Given the description of an element on the screen output the (x, y) to click on. 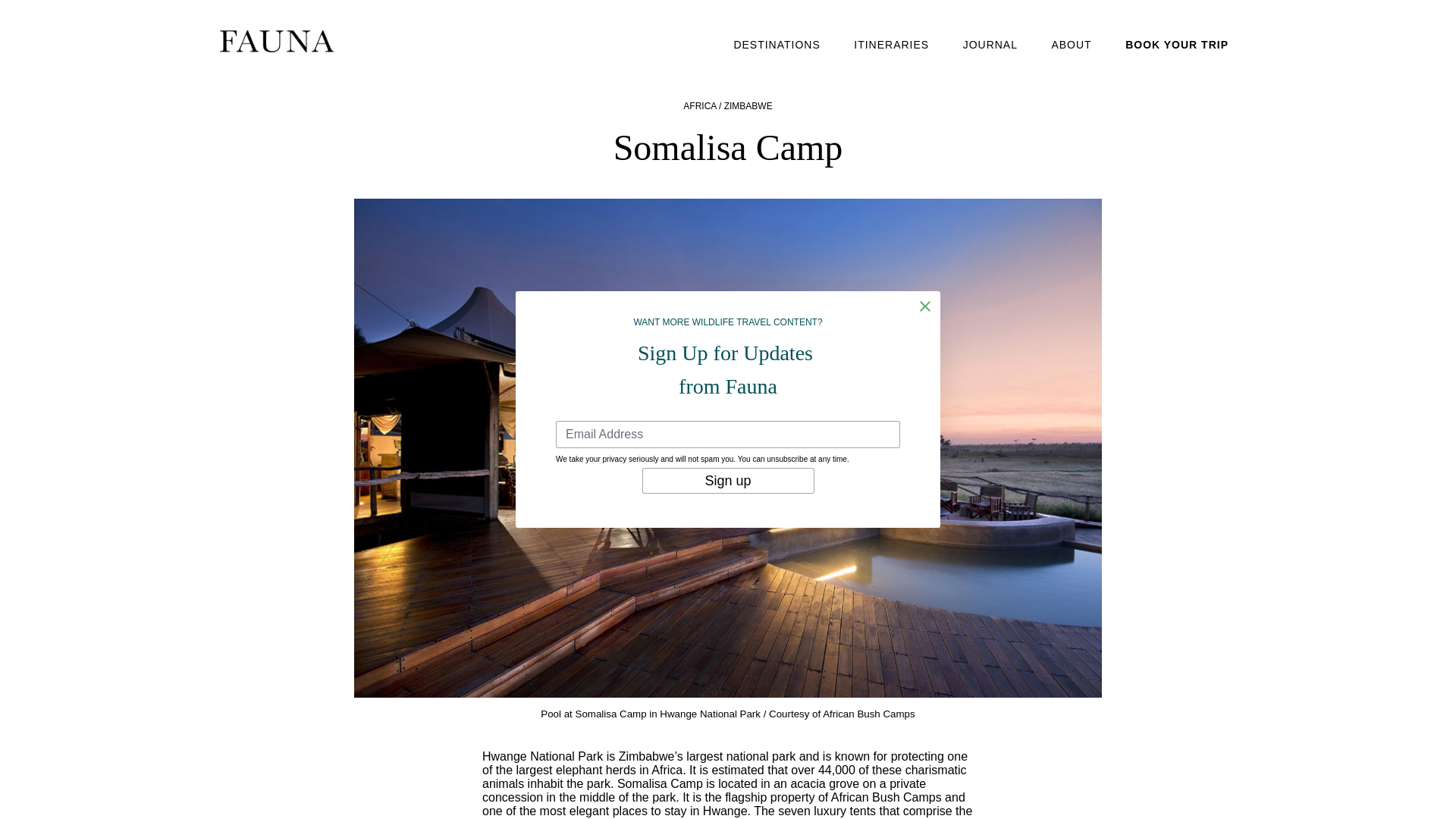
Close (925, 306)
Sign up (727, 480)
ABOUT (1070, 44)
Sign up (727, 480)
ZIMBABWE (748, 105)
JOURNAL (989, 44)
Fauna Travel (276, 41)
BOOK YOUR TRIP (1176, 44)
ITINERARIES (890, 44)
DESTINATIONS (776, 44)
AFRICA (699, 105)
